Given the description of an element on the screen output the (x, y) to click on. 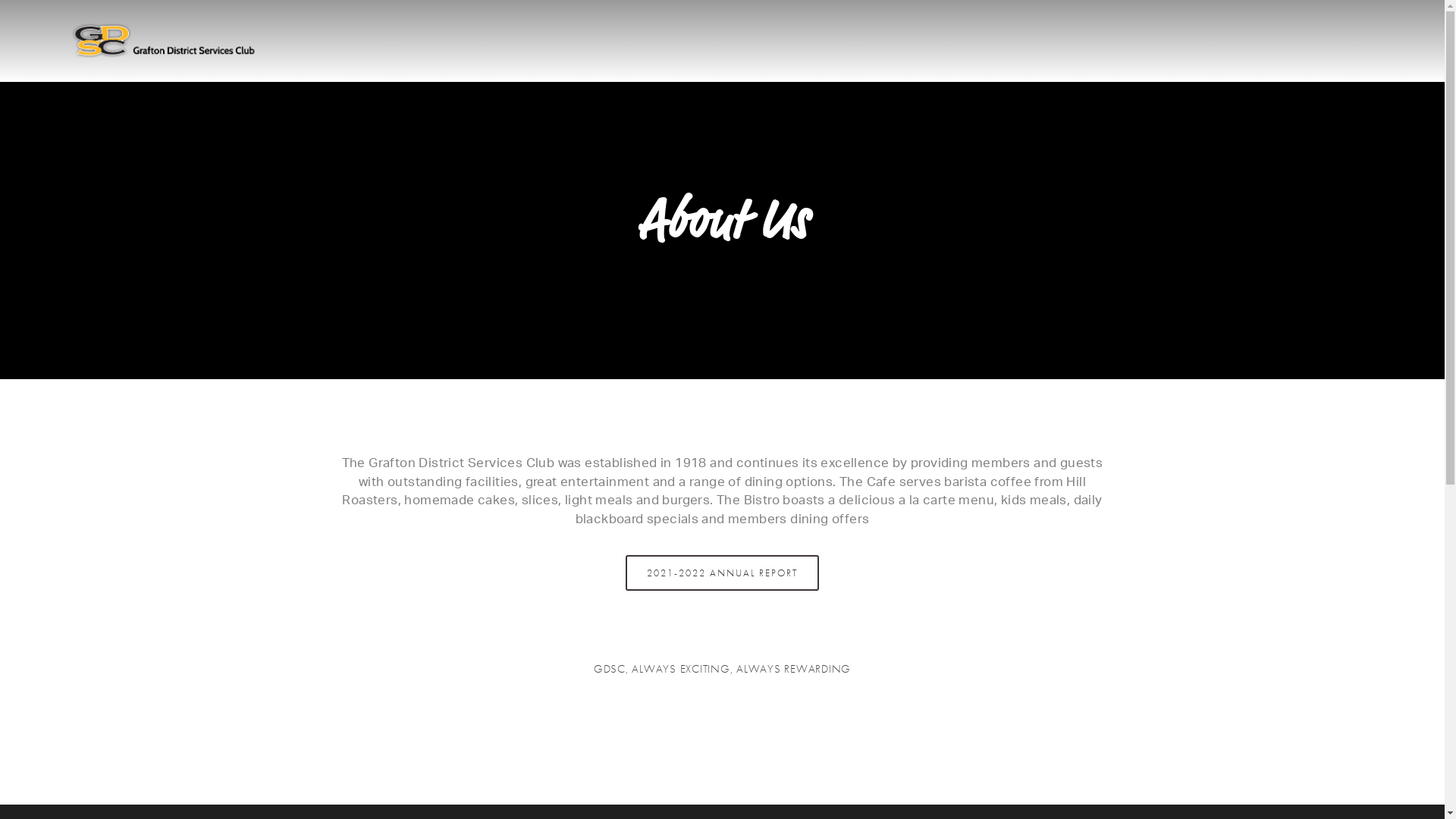
2021-2022 ANNUAL REPORT Element type: text (722, 572)
